Given the description of an element on the screen output the (x, y) to click on. 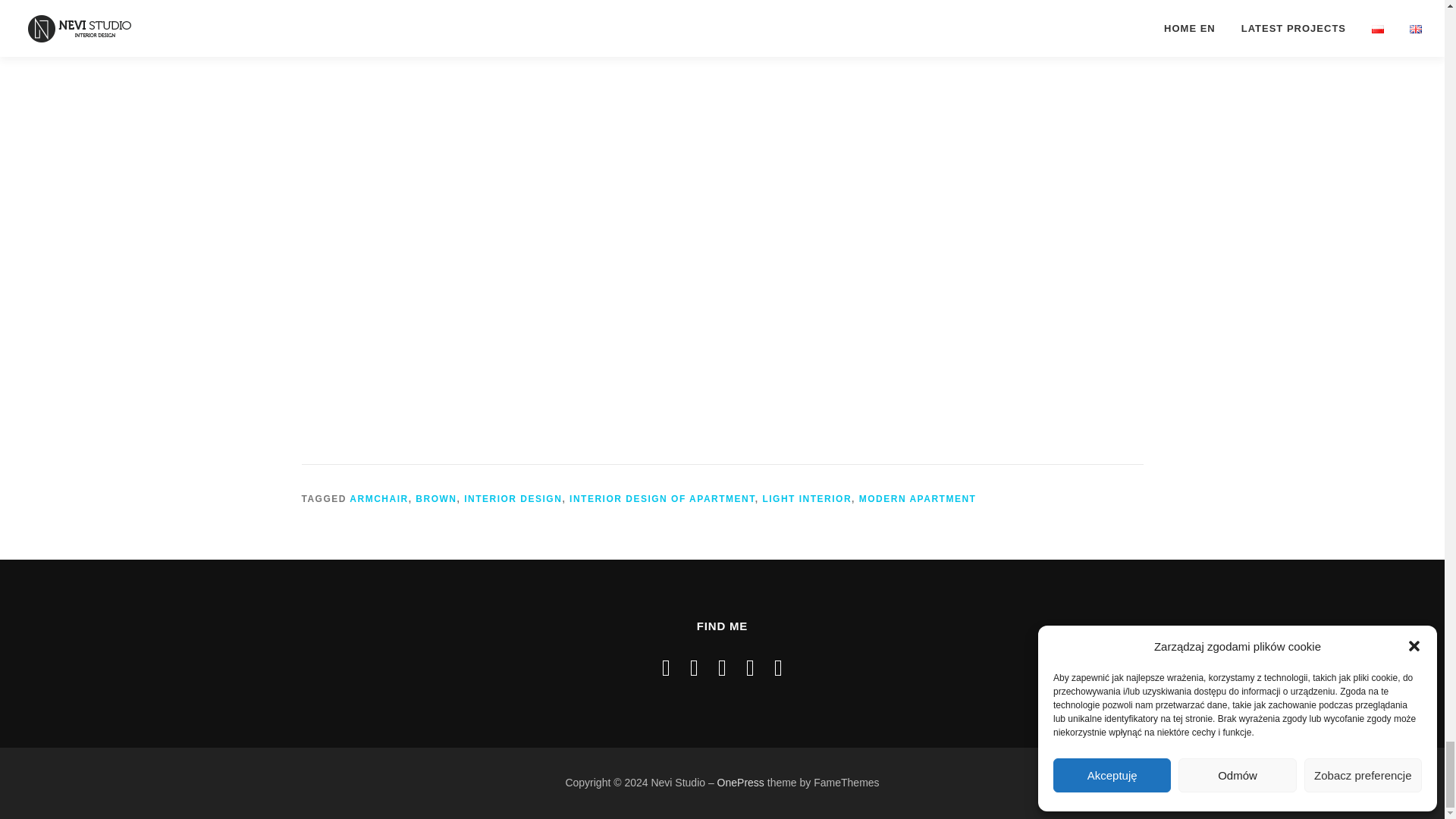
MODERN APARTMENT (917, 498)
Back To Top (1372, 739)
OnePress (740, 782)
ARMCHAIR (378, 498)
Behance (749, 667)
INTERIOR DESIGN (513, 498)
facebook (665, 667)
Instagram (694, 667)
Homebook (778, 667)
BROWN (435, 498)
INTERIOR DESIGN OF APARTMENT (662, 498)
pinterest (721, 667)
LIGHT INTERIOR (806, 498)
